Given the description of an element on the screen output the (x, y) to click on. 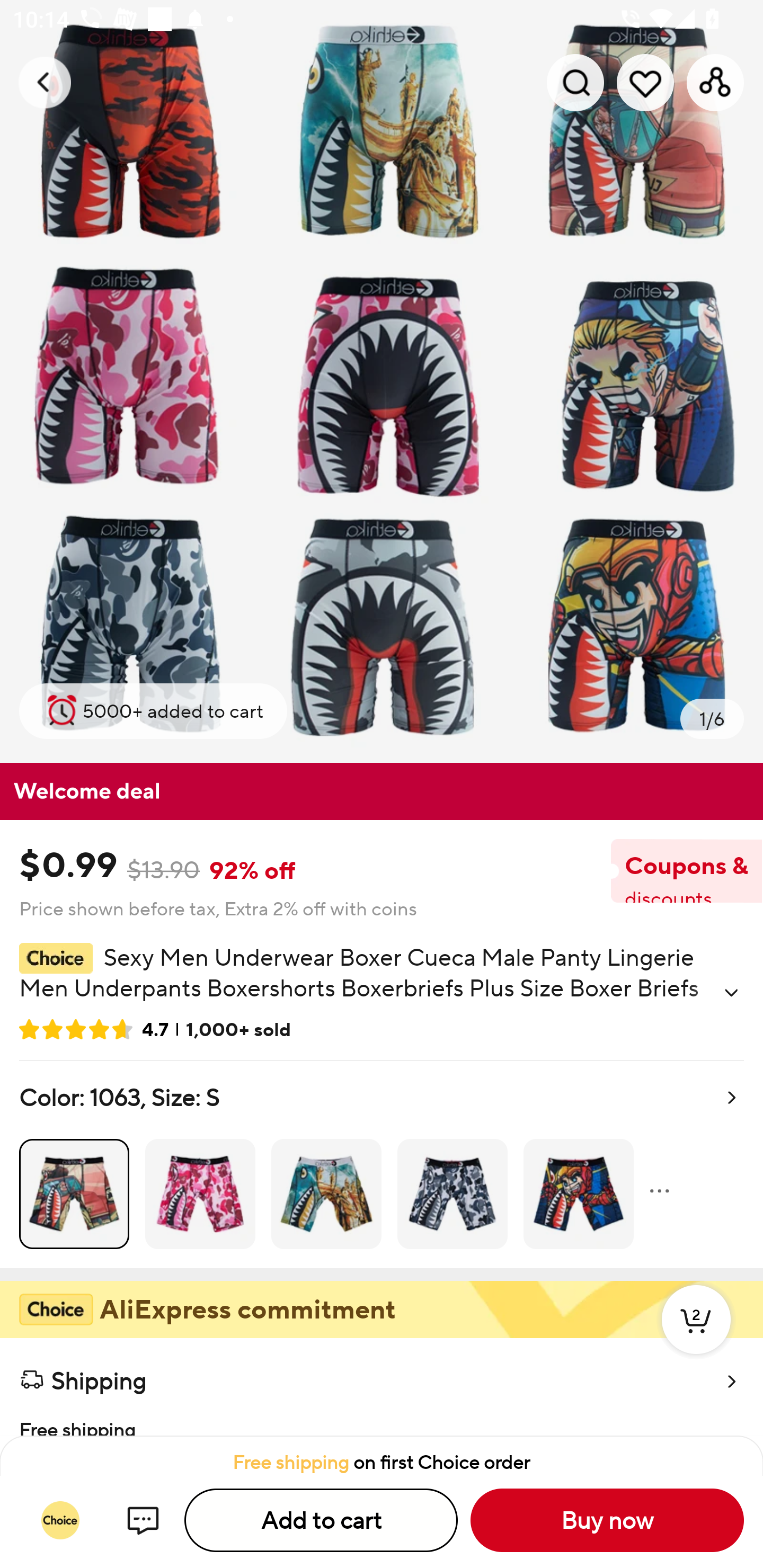
Navigate up (44, 82)
 (730, 992)
Color: 1063, Size: S  (381, 1164)
2 (695, 1338)
Shipping  Free shipping  (381, 1386)
Free shipping  (381, 1418)
Add to cart (320, 1520)
Buy now (606, 1520)
